Given the description of an element on the screen output the (x, y) to click on. 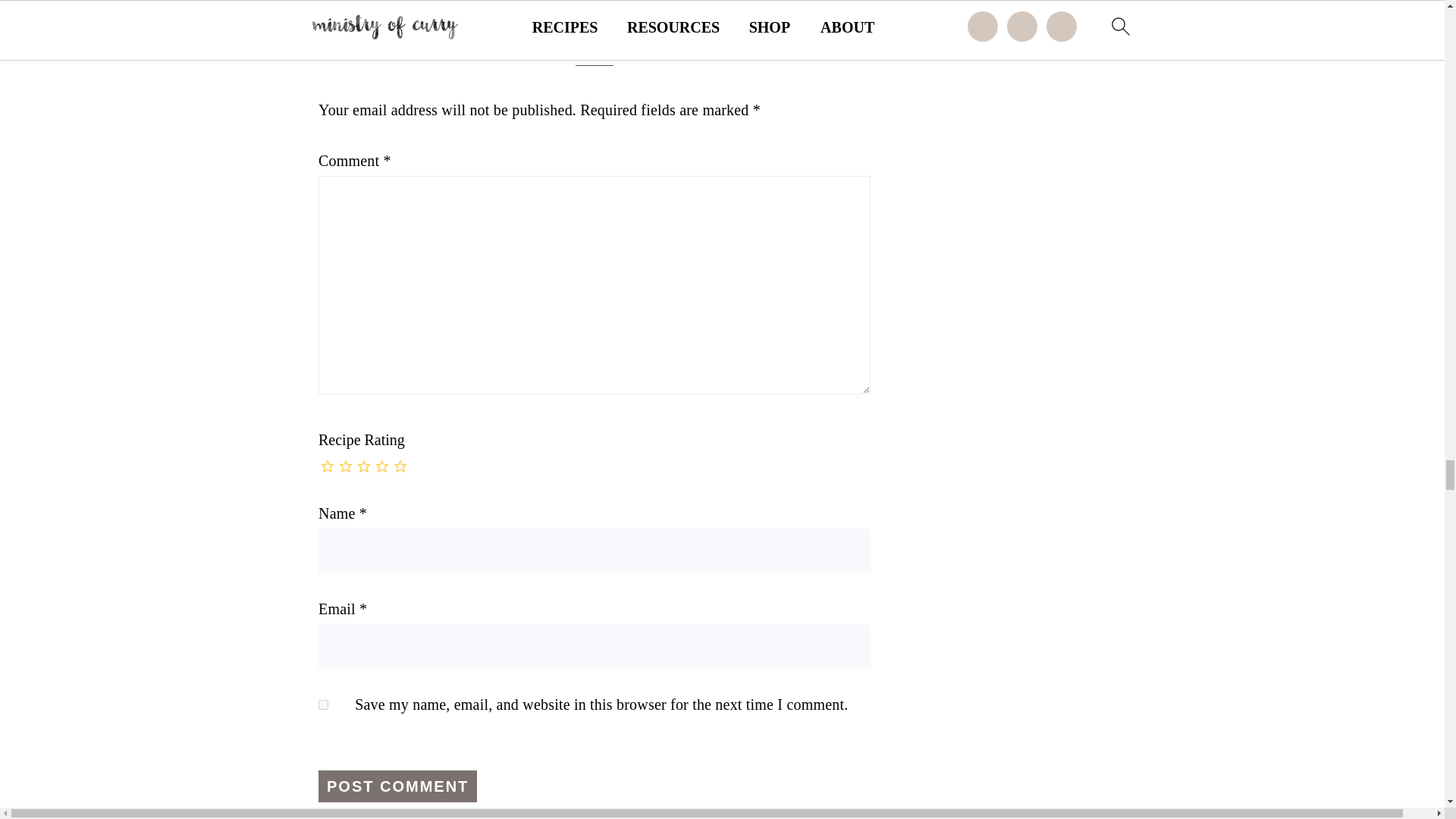
yes (323, 705)
Post Comment (397, 786)
